Given the description of an element on the screen output the (x, y) to click on. 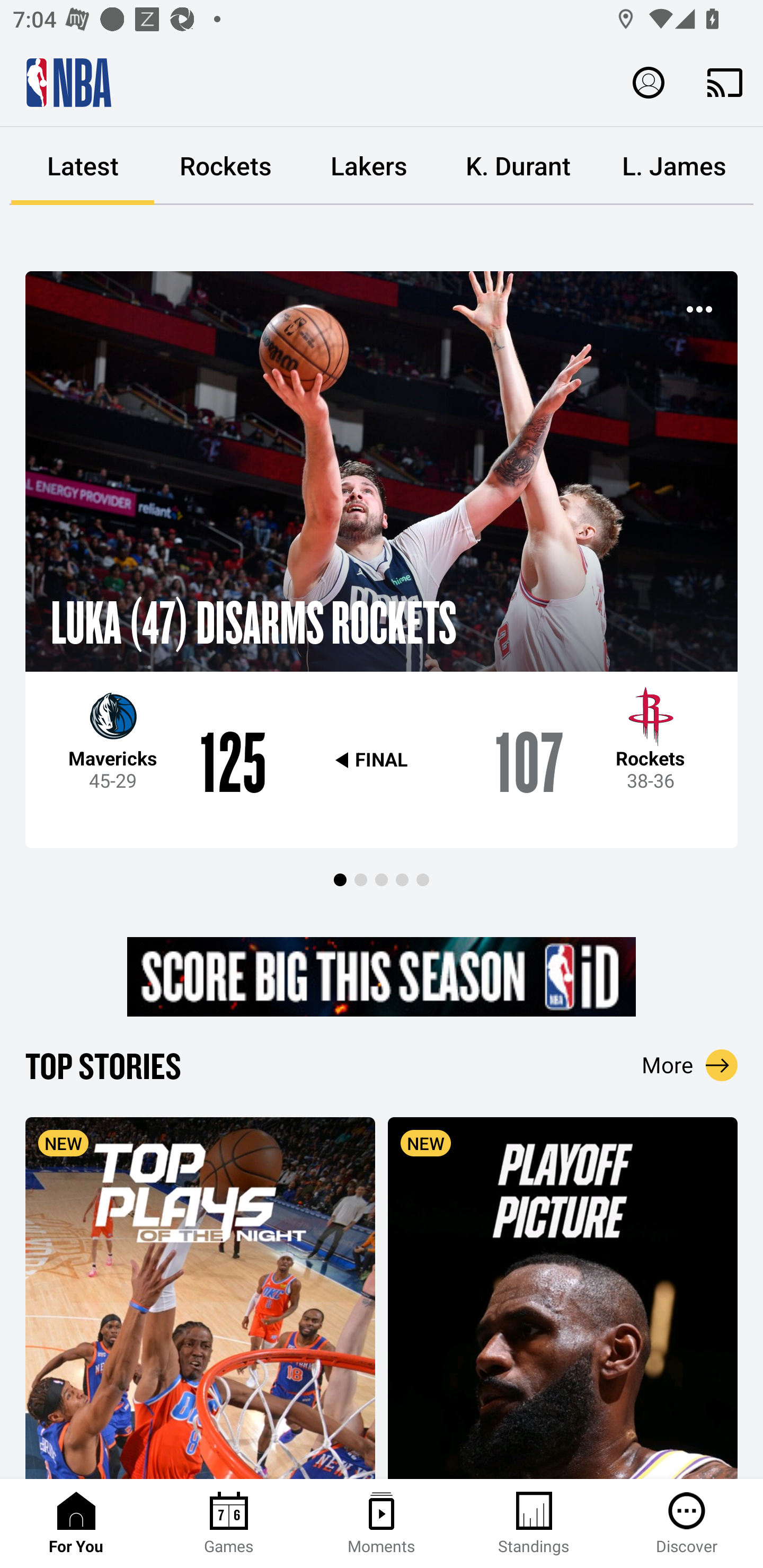
Cast. Disconnected (724, 82)
Profile (648, 81)
Rockets (225, 166)
Lakers (368, 166)
K. Durant (518, 166)
L. James (673, 166)
TOP STORIES More NEW NEW (381, 1260)
More (689, 1064)
NEW (200, 1297)
NEW (562, 1297)
Games (228, 1523)
Moments (381, 1523)
Standings (533, 1523)
Discover (686, 1523)
